Given the description of an element on the screen output the (x, y) to click on. 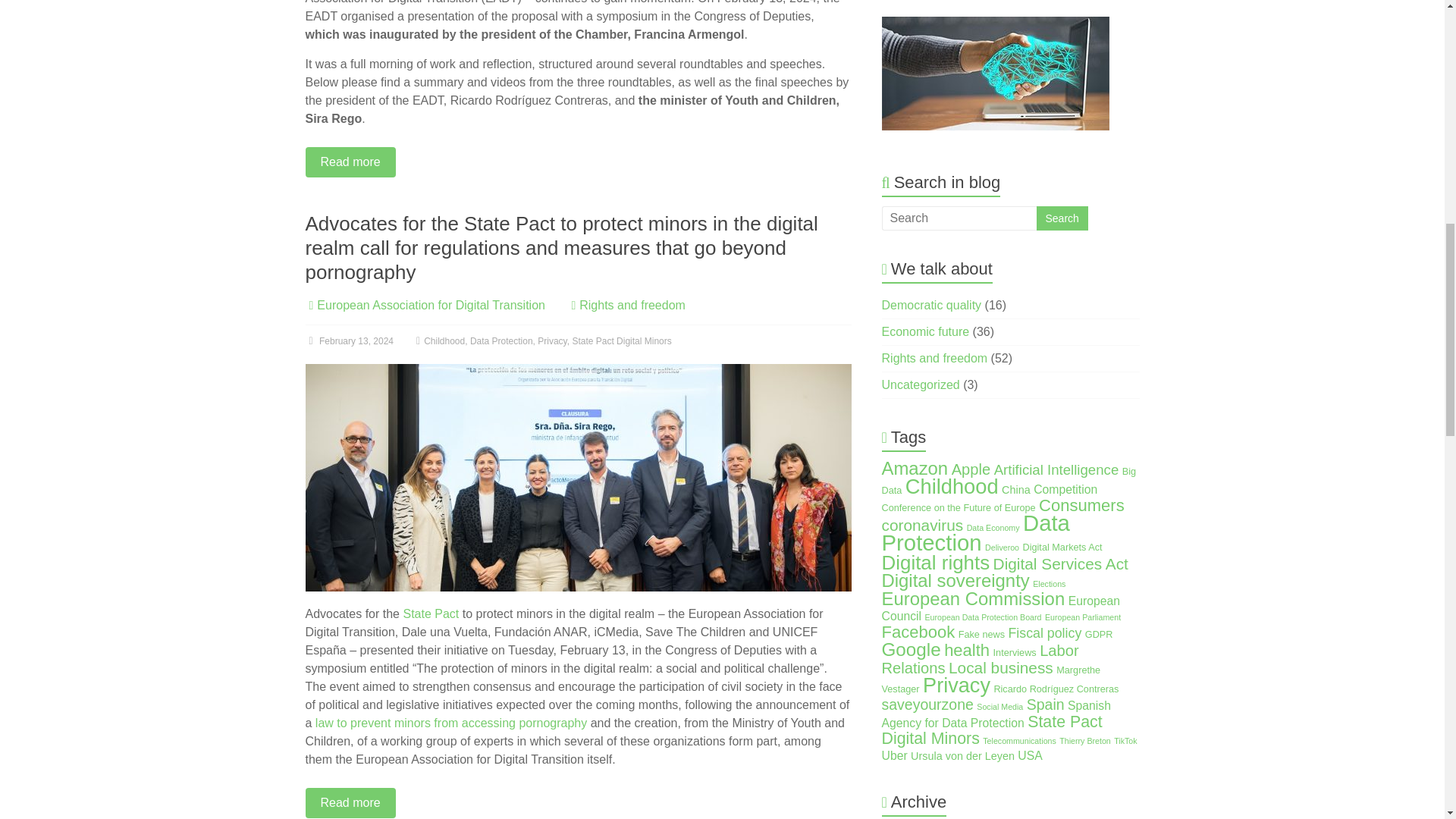
Read more (577, 162)
Data Protection (501, 340)
February 13, 2024 (348, 340)
European Association for Digital Transition (430, 305)
State Pact Digital Minors (621, 340)
Search (1061, 218)
Privacy (551, 340)
Childhood (443, 340)
